Given the description of an element on the screen output the (x, y) to click on. 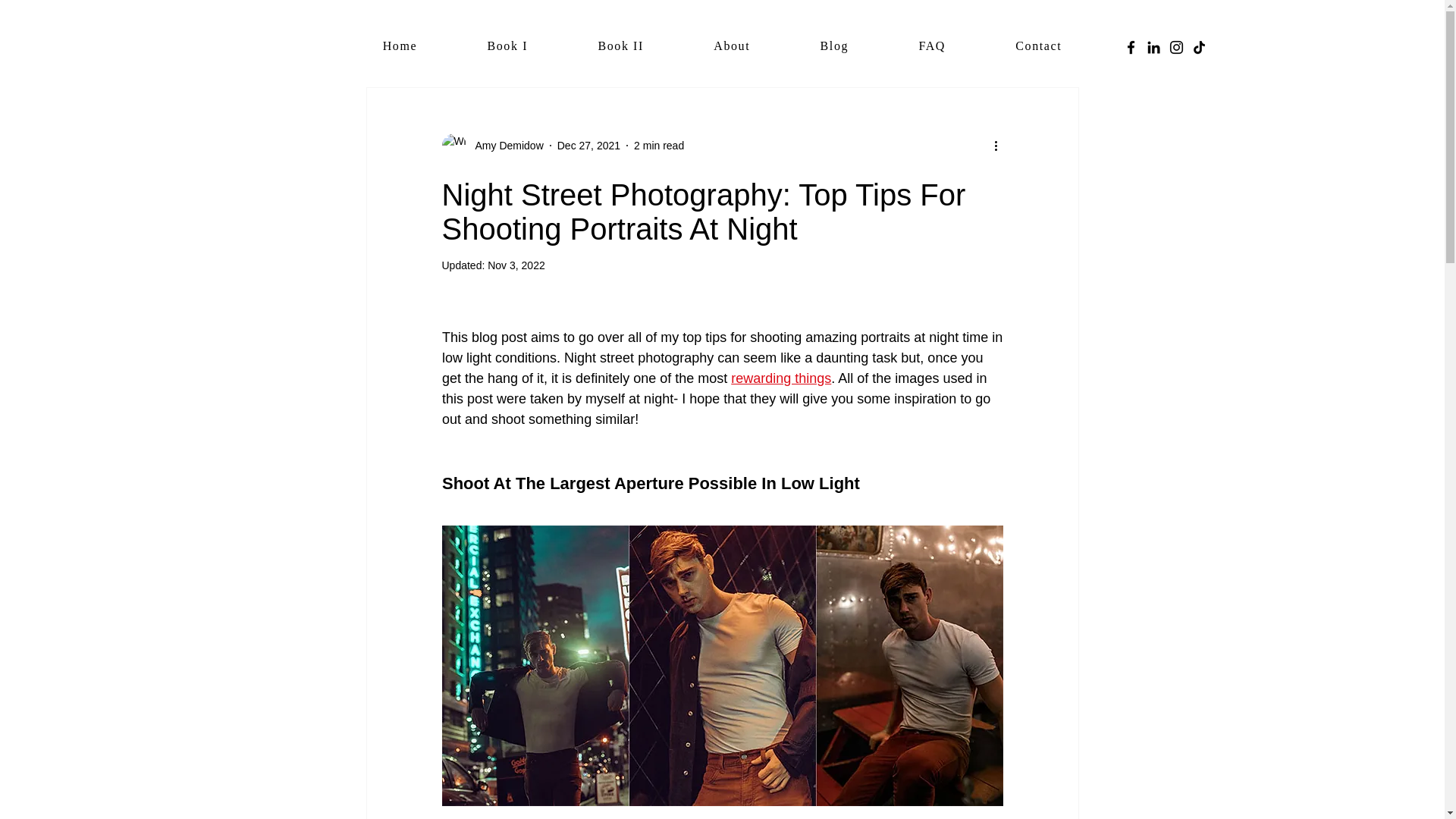
Nov 3, 2022 (515, 265)
Contact (1038, 46)
FAQ (931, 46)
Book I (506, 46)
Amy Demidow (504, 145)
rewarding things (780, 378)
Dec 27, 2021 (588, 145)
2 min read (658, 145)
Book II (620, 46)
About (731, 46)
Blog (833, 46)
Home (399, 46)
